Given the description of an element on the screen output the (x, y) to click on. 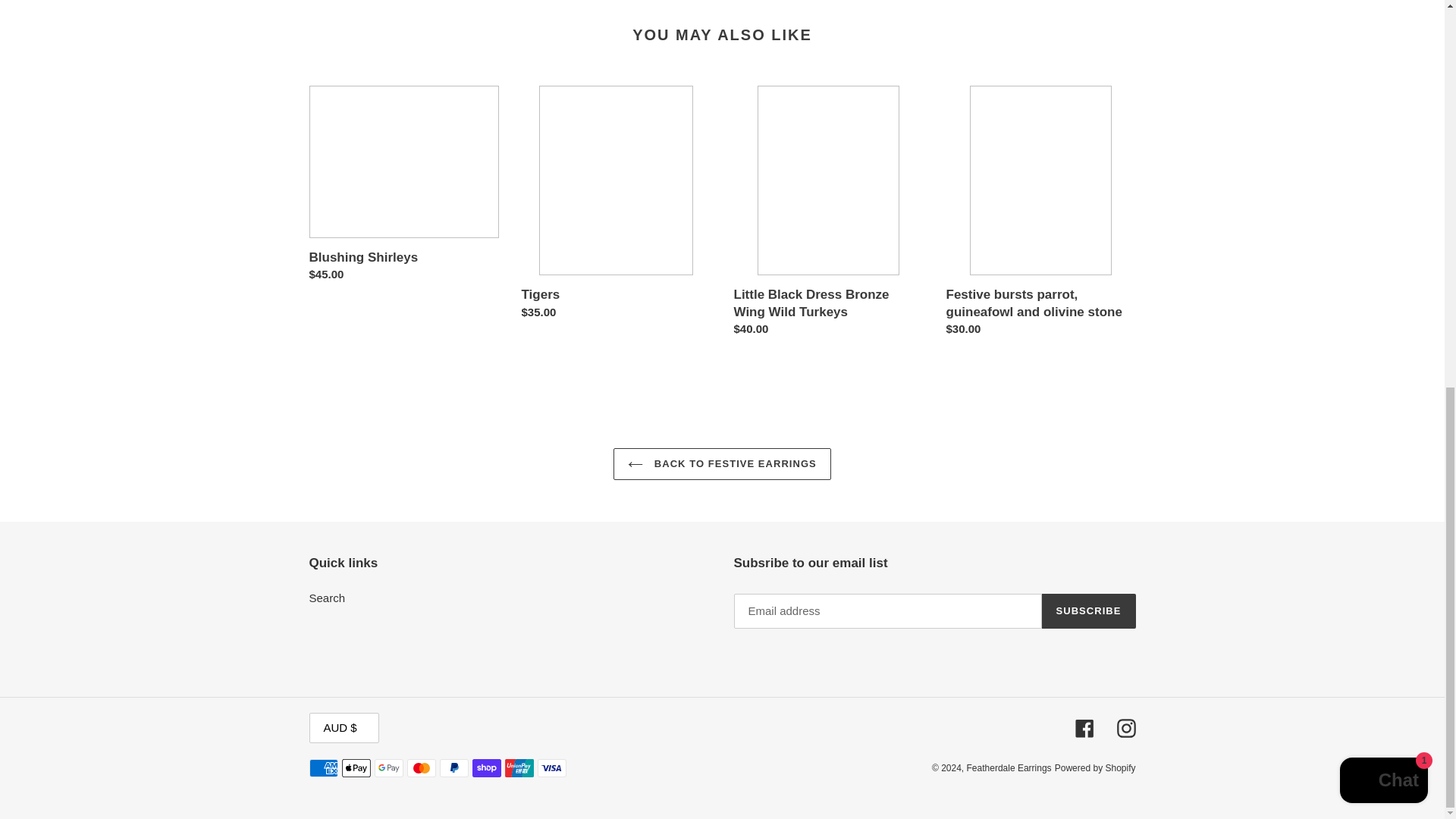
Blushing Shirleys (403, 187)
BACK TO FESTIVE EARRINGS (721, 463)
Search (327, 597)
SUBSCRIBE (1088, 610)
Shopify online store chat (1383, 49)
